Given the description of an element on the screen output the (x, y) to click on. 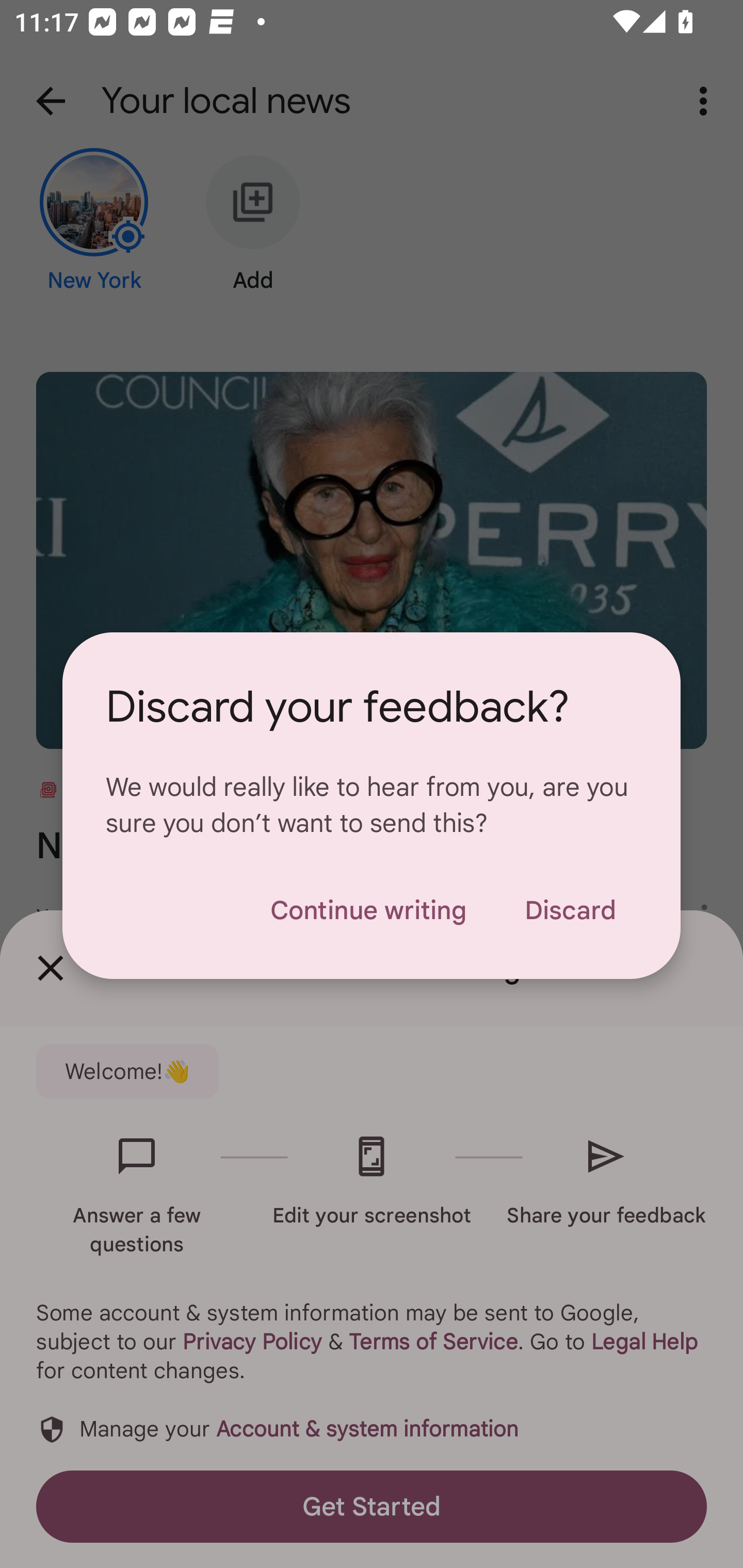
Continue writing (368, 910)
Discard (569, 910)
